Given the description of an element on the screen output the (x, y) to click on. 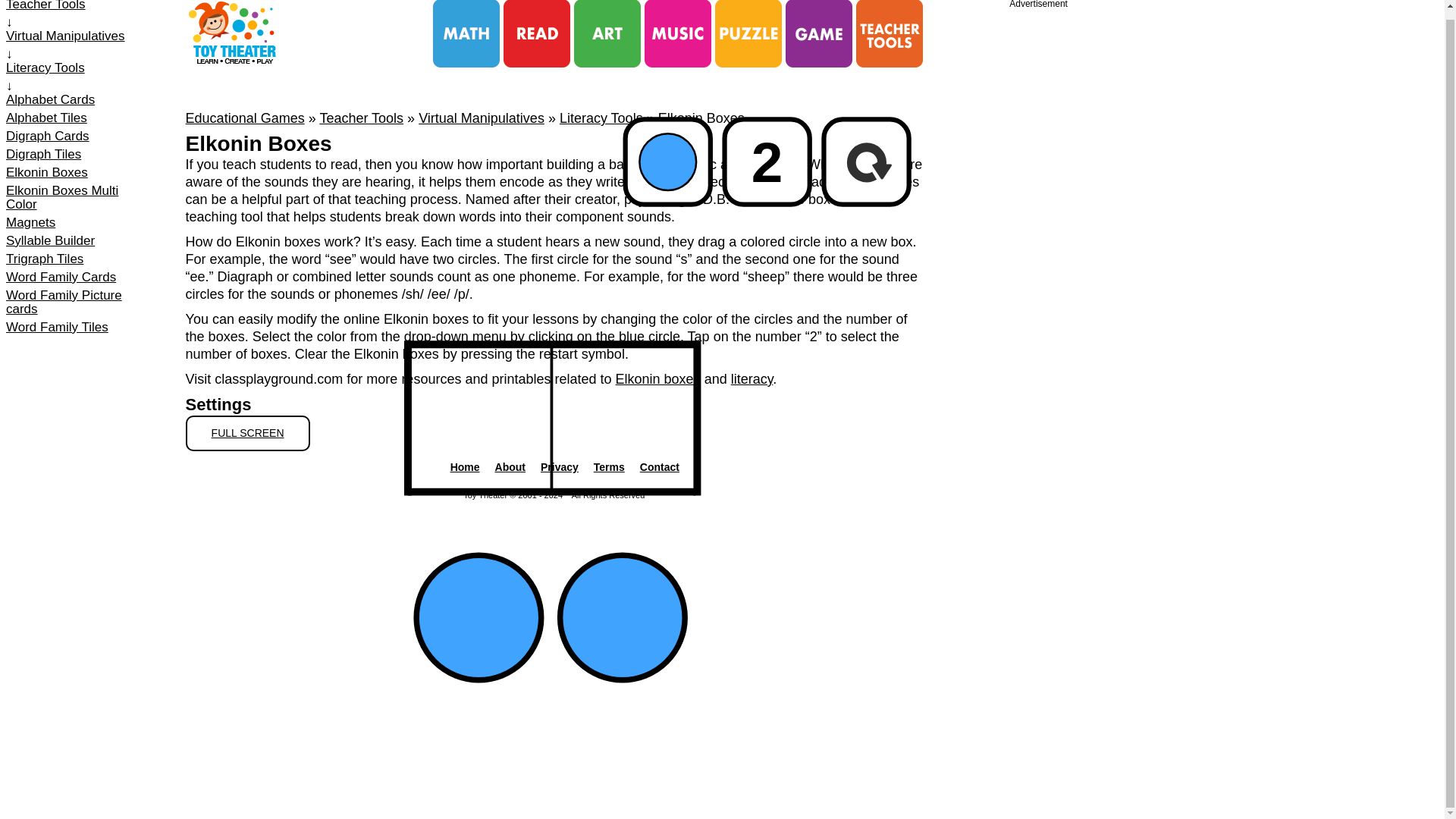
Word Family Picture cards (78, 302)
Privacy (559, 467)
Alphabet Cards (78, 100)
Trigraph Tiles (78, 259)
About (510, 467)
FULL SCREEN (248, 433)
Alphabet Tiles (78, 118)
Elkonin boxes (657, 378)
Digraph Cards (78, 136)
Literacy Tools (601, 118)
Elkonin Boxes (78, 172)
Teacher Tools (78, 5)
Elkonin Boxes Multi Color (78, 197)
Digraph Tiles (78, 154)
Educational Games (245, 118)
